Given the description of an element on the screen output the (x, y) to click on. 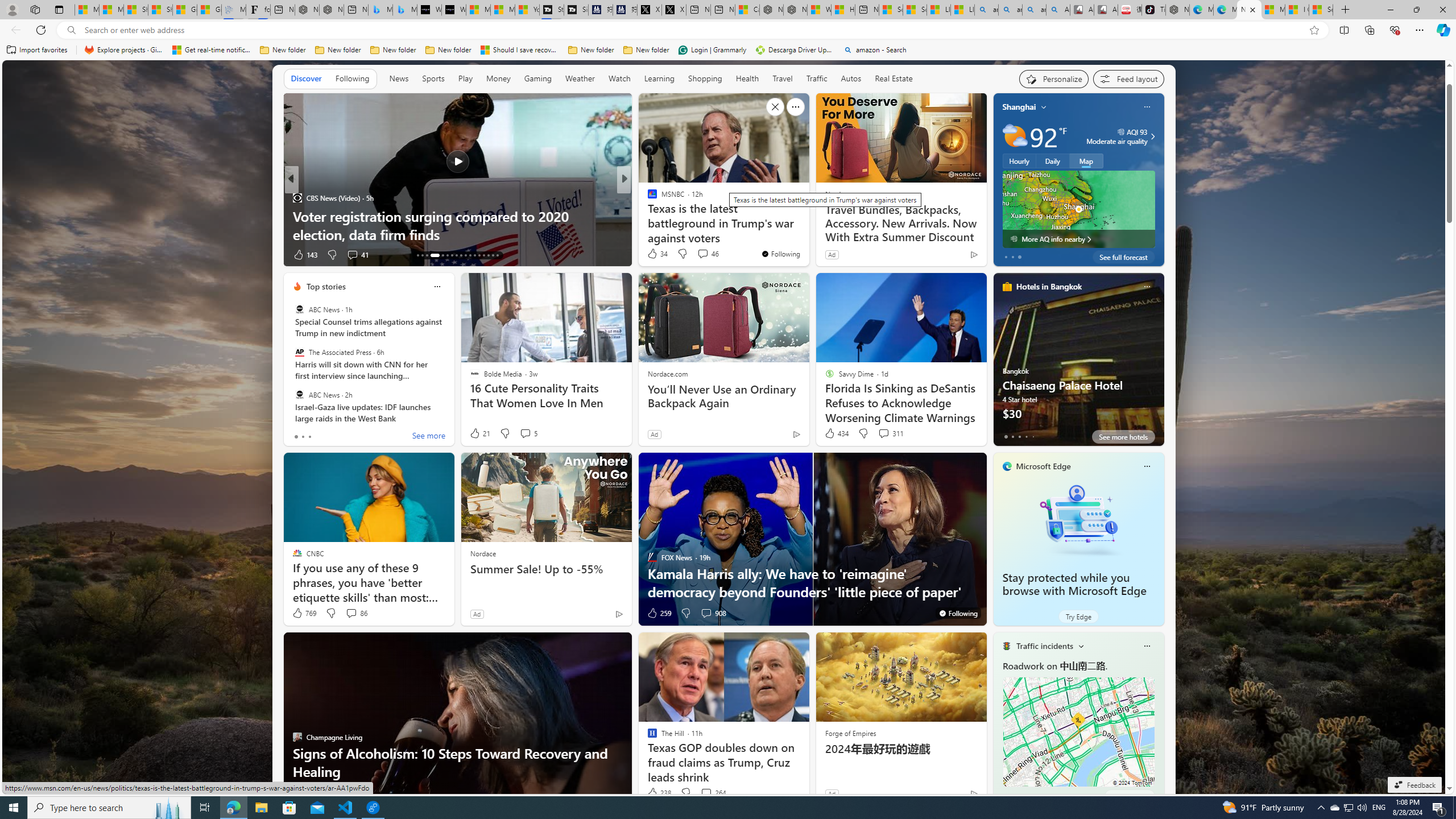
View comments 23 Comment (704, 254)
30 Like (301, 792)
Partly sunny (1014, 136)
Learning (659, 79)
434 Like (835, 433)
Sports (432, 79)
Try Edge (1078, 616)
View comments 107 Comment (698, 254)
Traffic incidents (1044, 646)
Washington Examiner (647, 197)
